Given the description of an element on the screen output the (x, y) to click on. 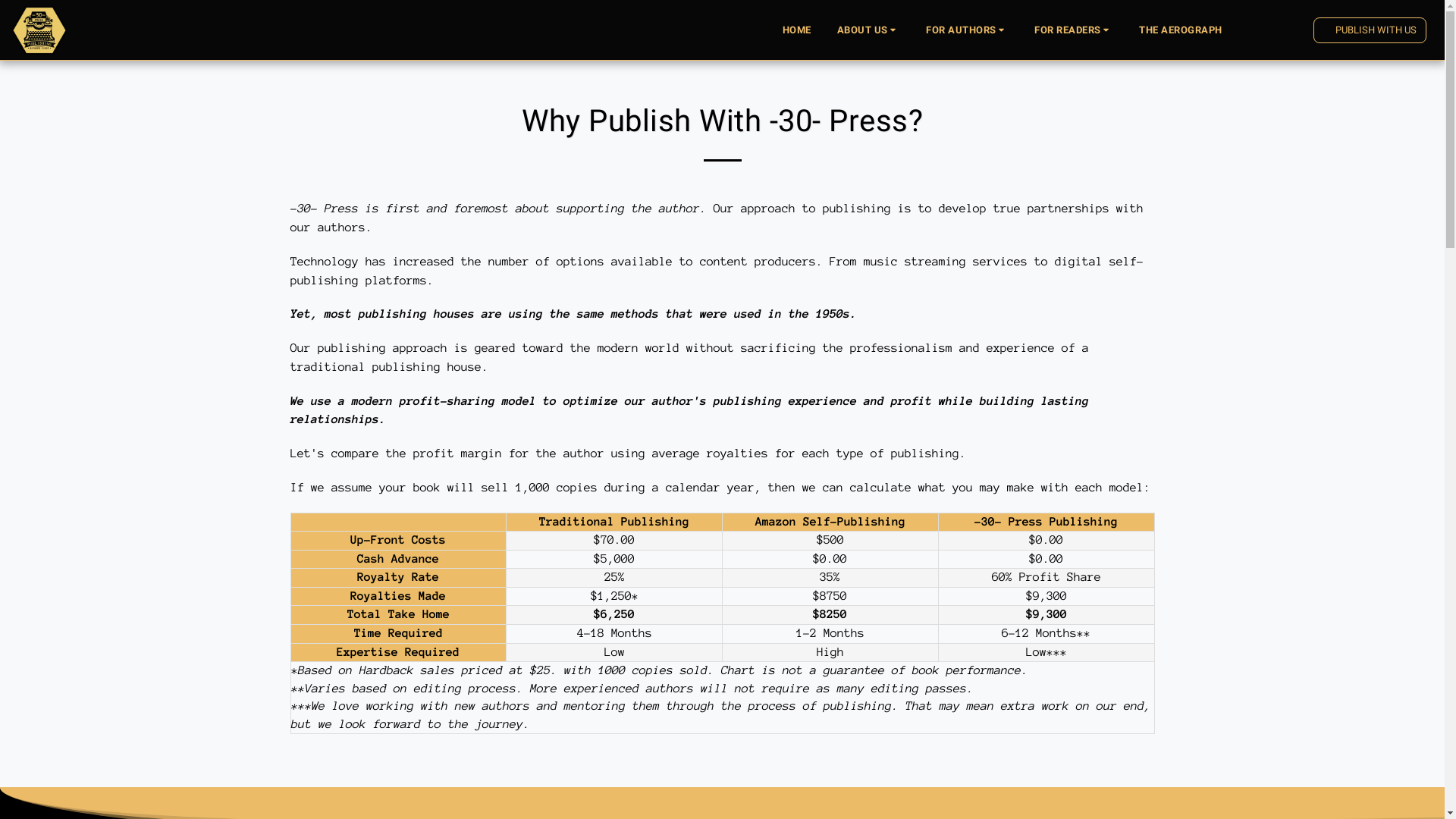
  Element type: text (1270, 29)
ABOUT US   Element type: text (869, 29)
  PUBLISH WITH US Element type: text (1369, 29)
  PUBLISH WITH US Element type: text (1369, 30)
FOR AUTHORS   Element type: text (966, 29)
  Element type: text (1294, 29)
FOR READERS   Element type: text (1073, 29)
  Element type: text (1247, 29)
THE AEROGRAPH Element type: text (1180, 29)
HOME Element type: text (796, 29)
